Given the description of an element on the screen output the (x, y) to click on. 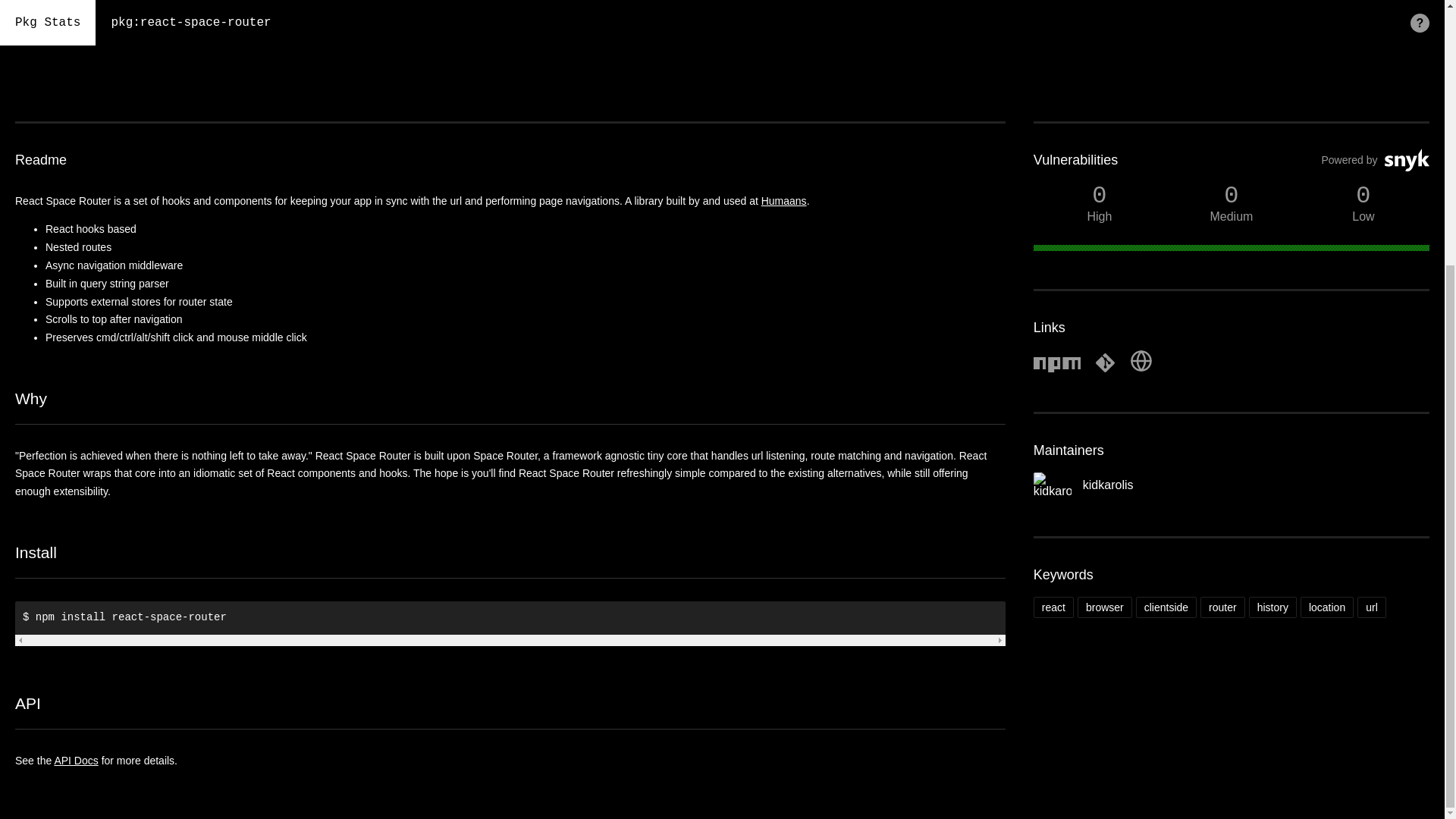
homepage (1141, 369)
View details at snyk.io (1231, 172)
Git (1105, 362)
npm (1056, 369)
repository (1105, 369)
